Given the description of an element on the screen output the (x, y) to click on. 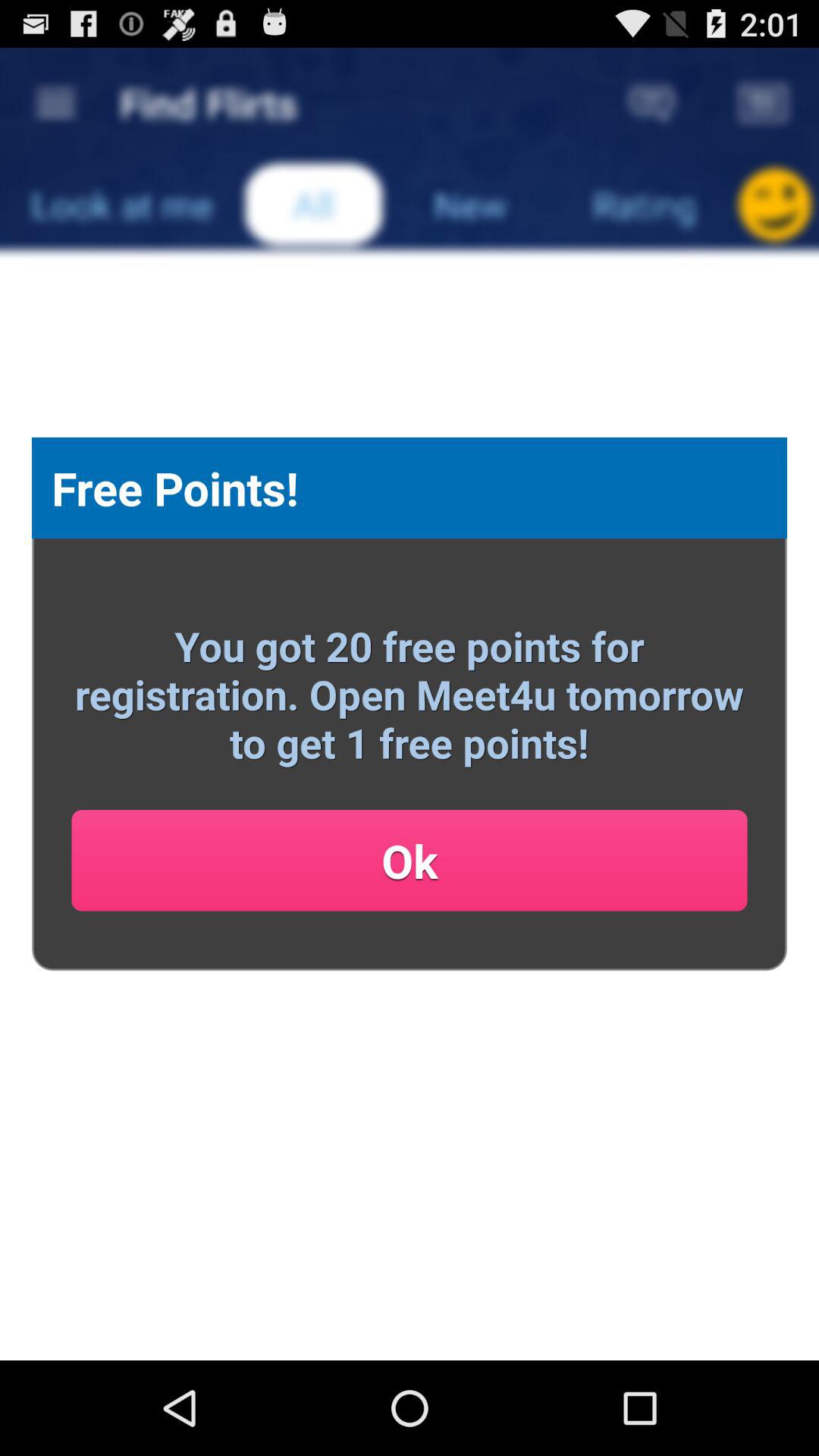
tap the ok (409, 860)
